Given the description of an element on the screen output the (x, y) to click on. 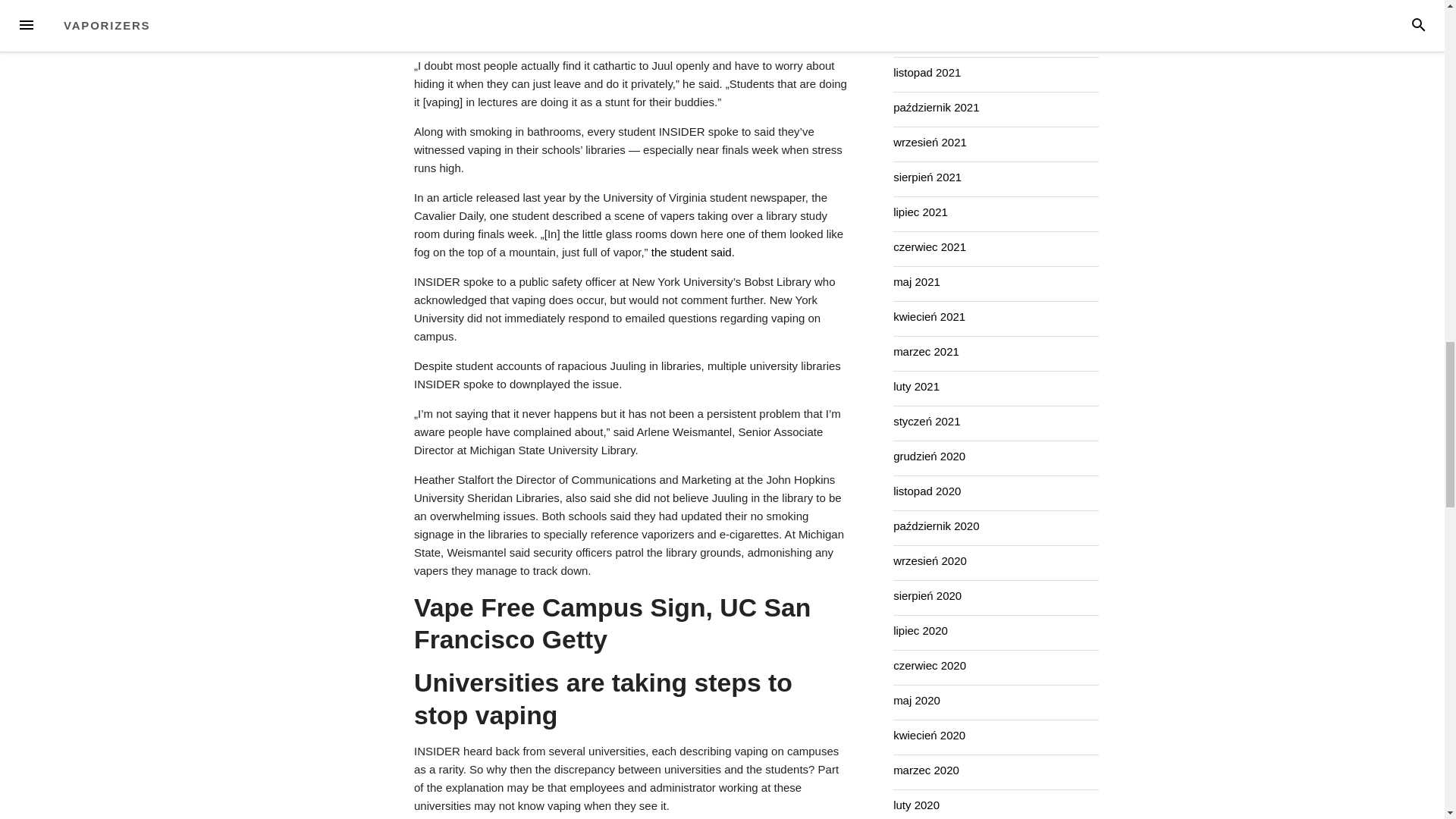
the student said. (692, 251)
